Given the description of an element on the screen output the (x, y) to click on. 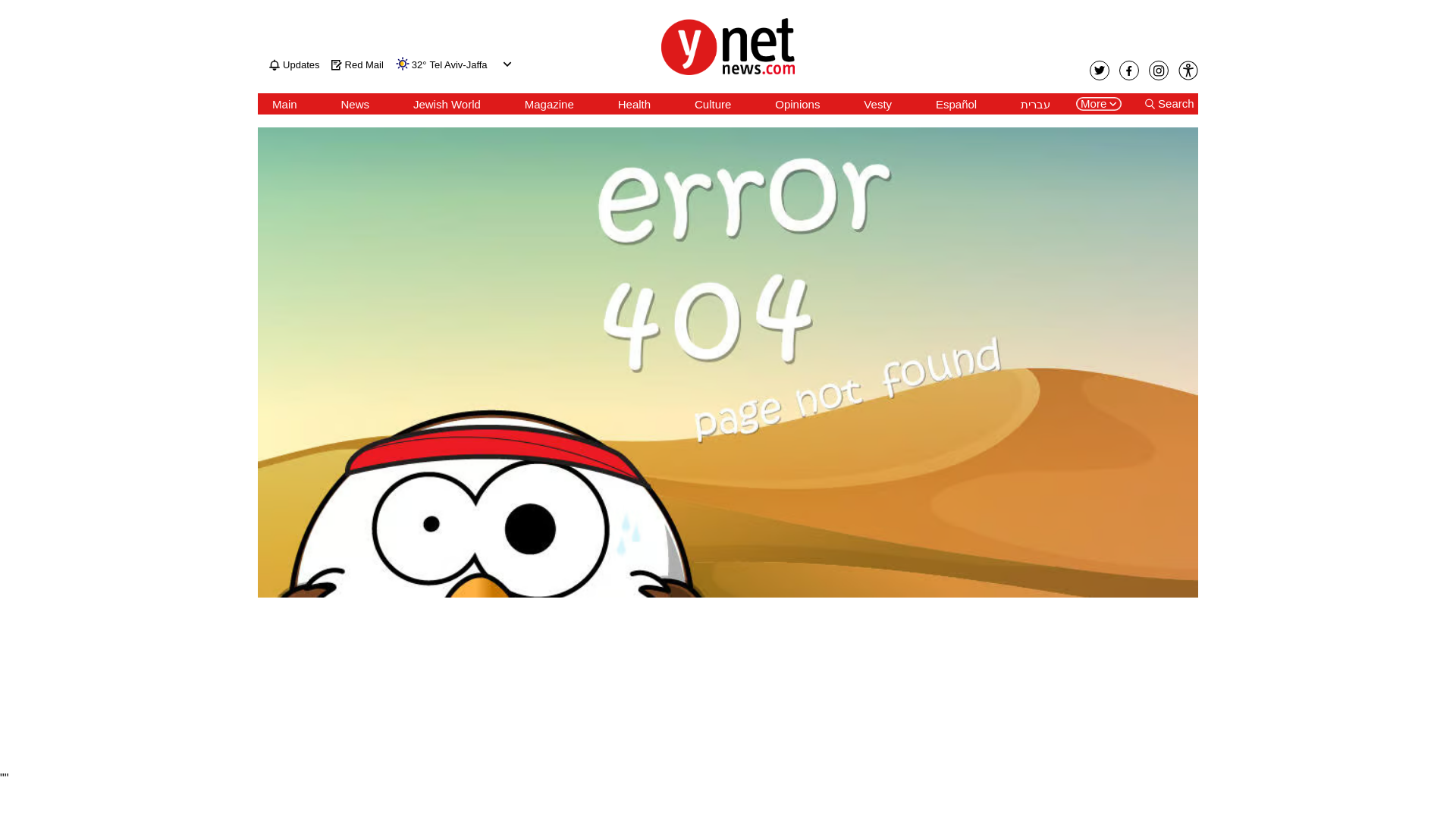
Vesty (877, 103)
Jewish World (446, 103)
News (354, 103)
Updates (293, 64)
Health (633, 103)
Opinions (796, 103)
Tel Aviv-Jaffa (457, 65)
Red Mail (357, 64)
Main (284, 103)
Magazine (548, 103)
